Given the description of an element on the screen output the (x, y) to click on. 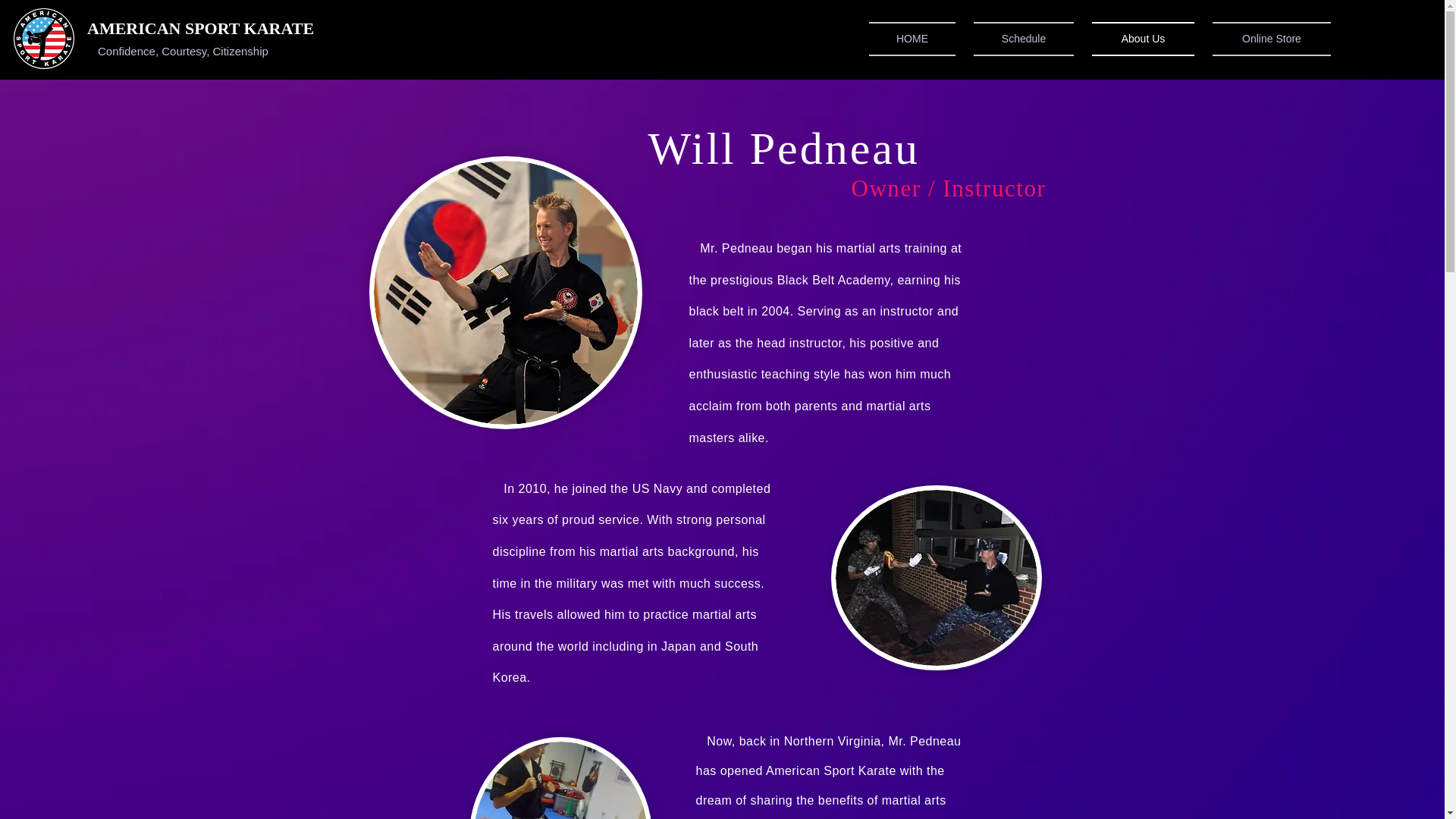
Online Store (1267, 39)
HOME (916, 39)
AMERICAN SPORT KARATE (200, 27)
About Us (1143, 39)
Schedule (1023, 39)
